Given the description of an element on the screen output the (x, y) to click on. 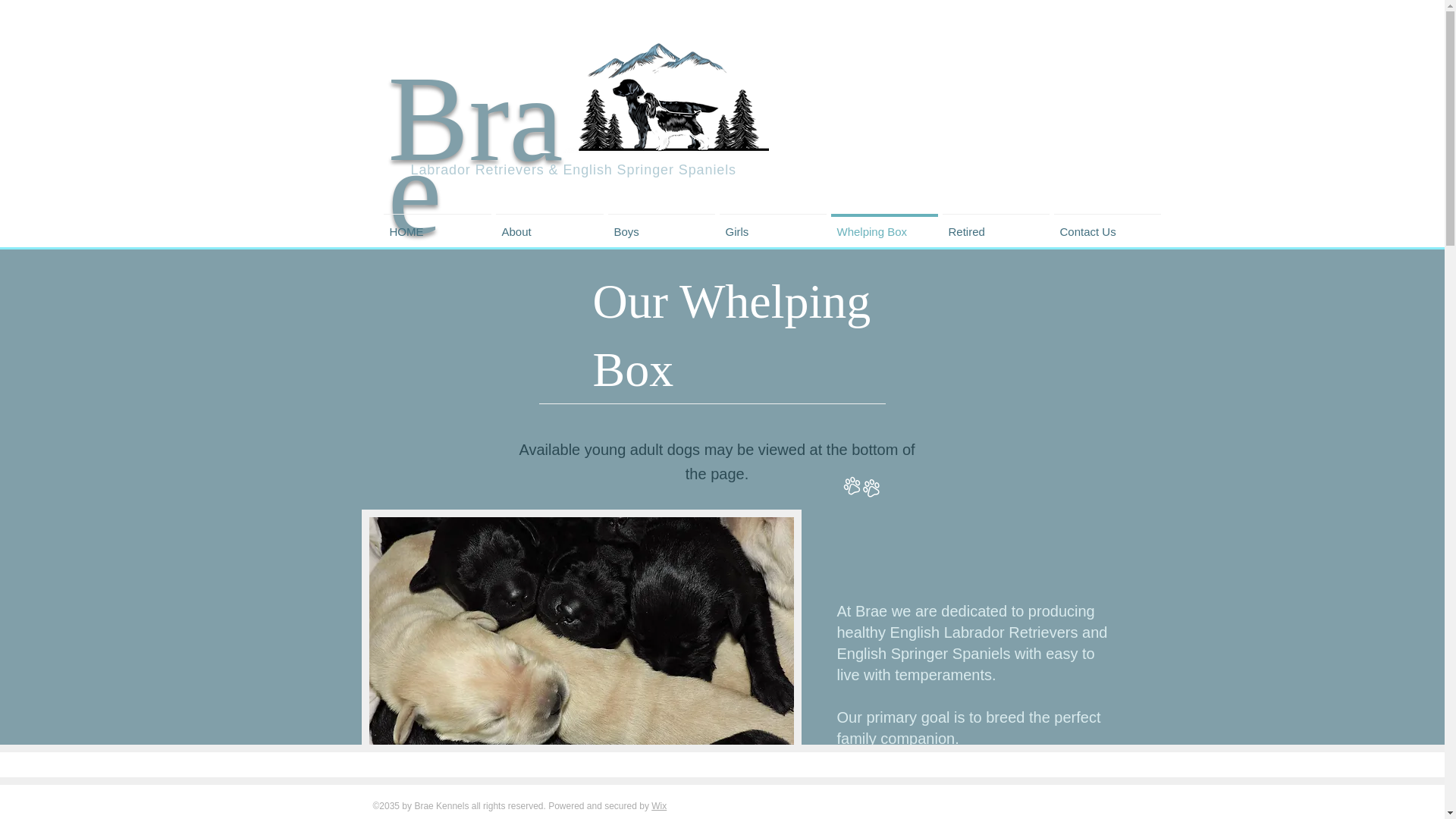
Wix (658, 805)
Girls (772, 224)
Whelping Box (883, 224)
Contact Us (1106, 224)
About (549, 224)
HOME (436, 224)
Boys (660, 224)
Retired (995, 224)
